Given the description of an element on the screen output the (x, y) to click on. 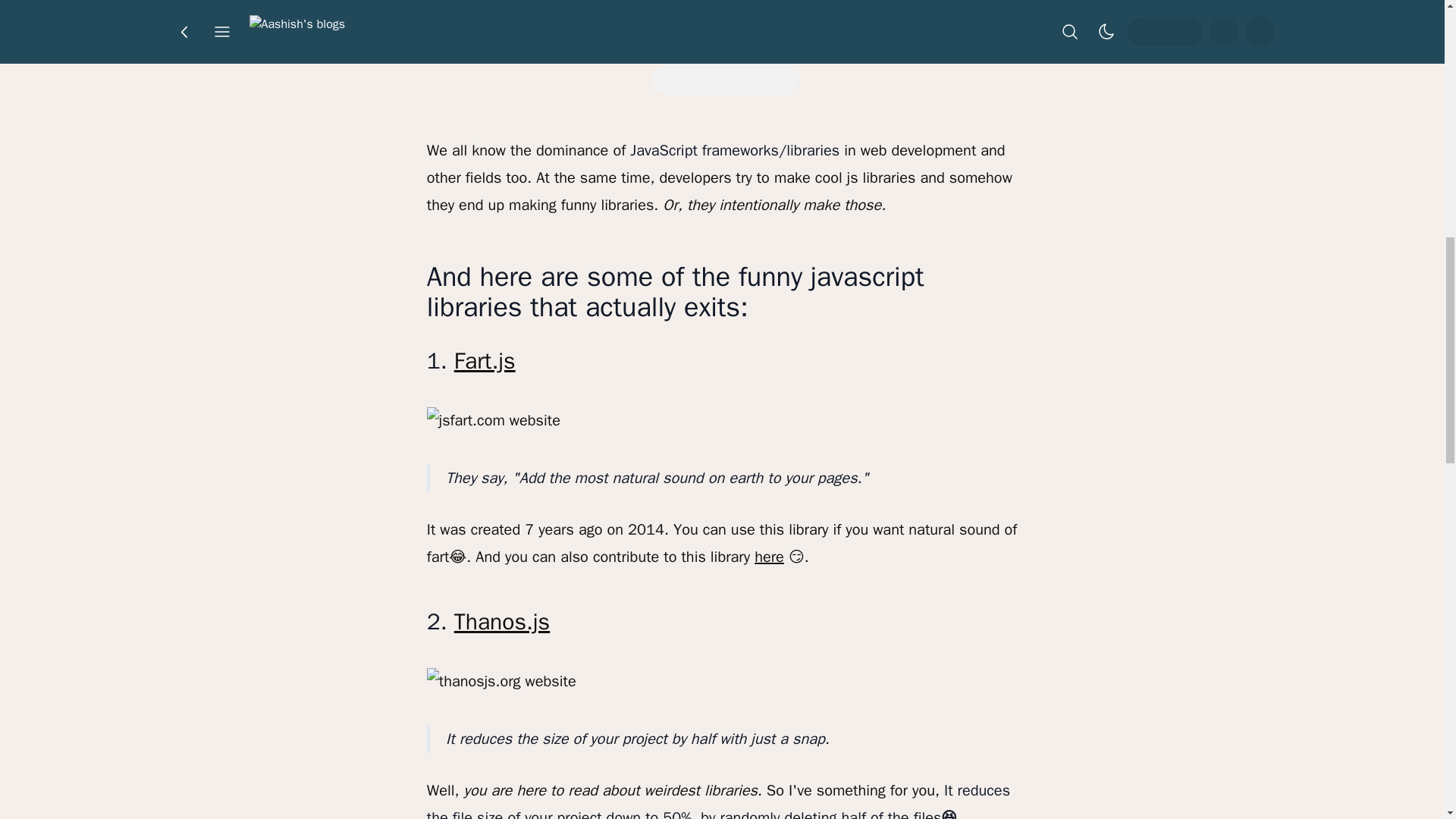
Thanos.js (502, 621)
Aug 27, 2021 (799, 25)
Aashish Panthi (691, 25)
Fart.js (484, 360)
here (769, 556)
